Given the description of an element on the screen output the (x, y) to click on. 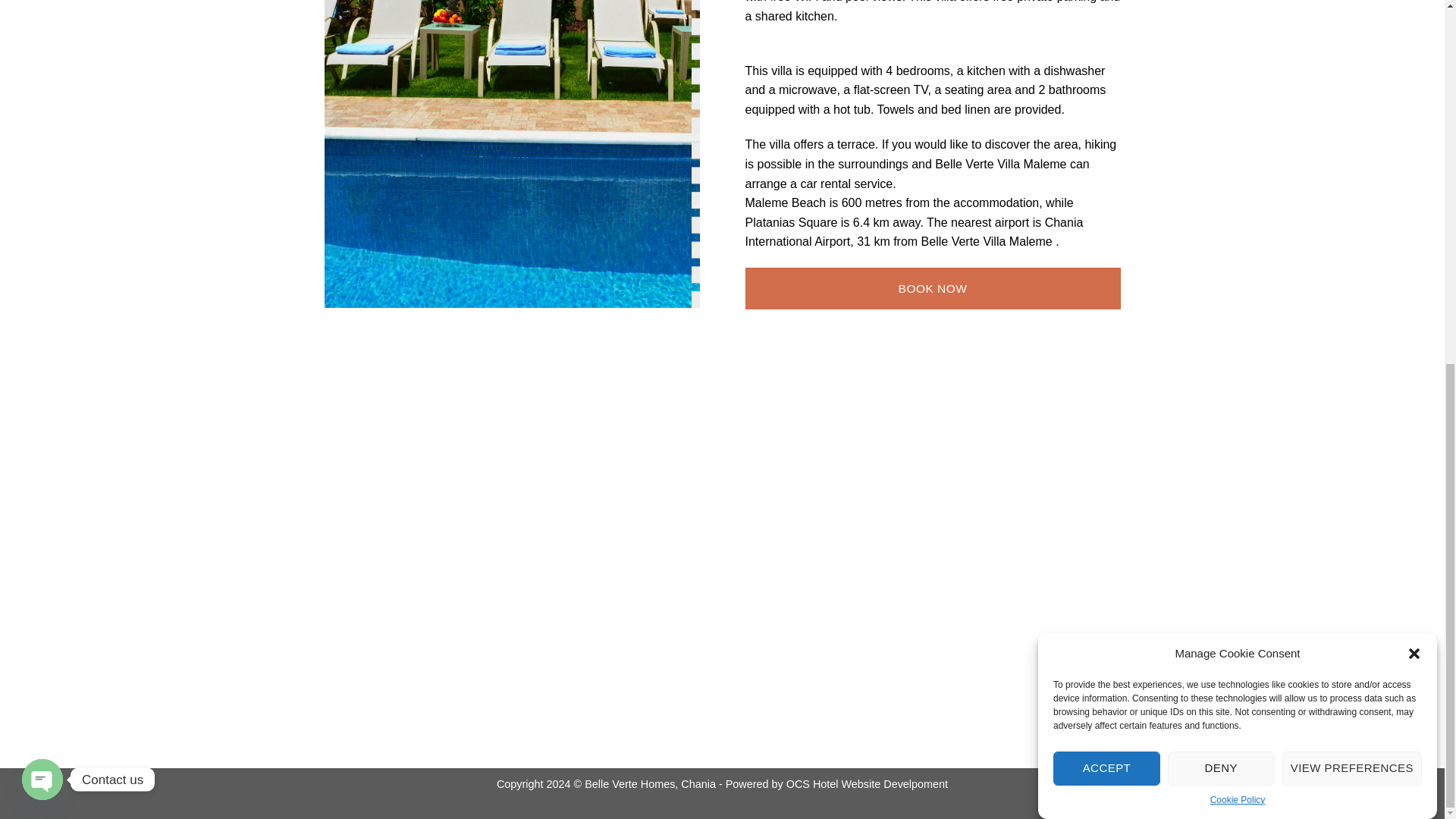
DENY (1221, 391)
ACCEPT (1106, 422)
VIEW PREFERENCES (1352, 360)
Cookie Policy (1237, 323)
